Given the description of an element on the screen output the (x, y) to click on. 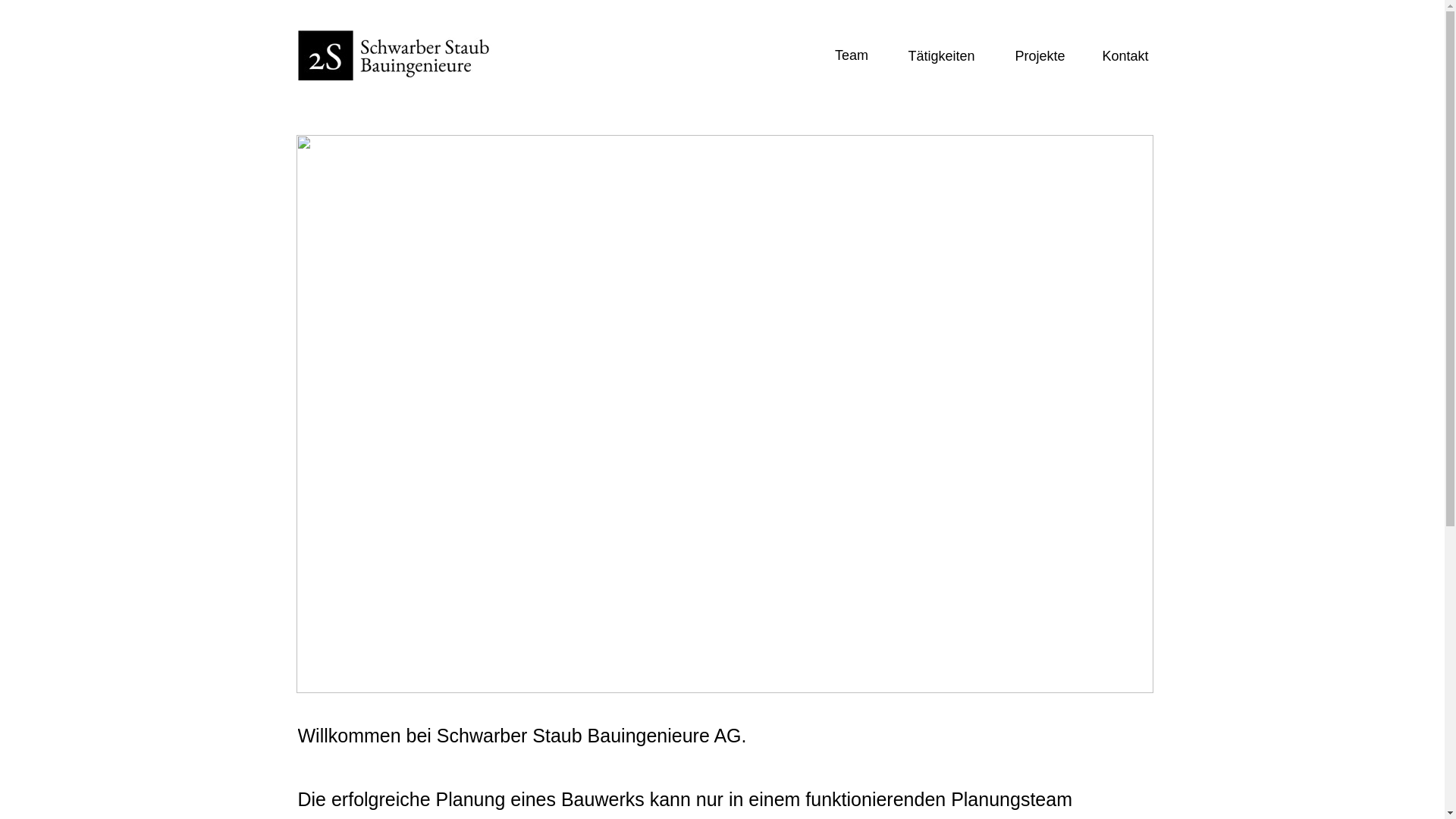
Projekte Element type: text (1040, 55)
Kontakt Element type: text (1124, 55)
Team Element type: text (851, 54)
